Given the description of an element on the screen output the (x, y) to click on. 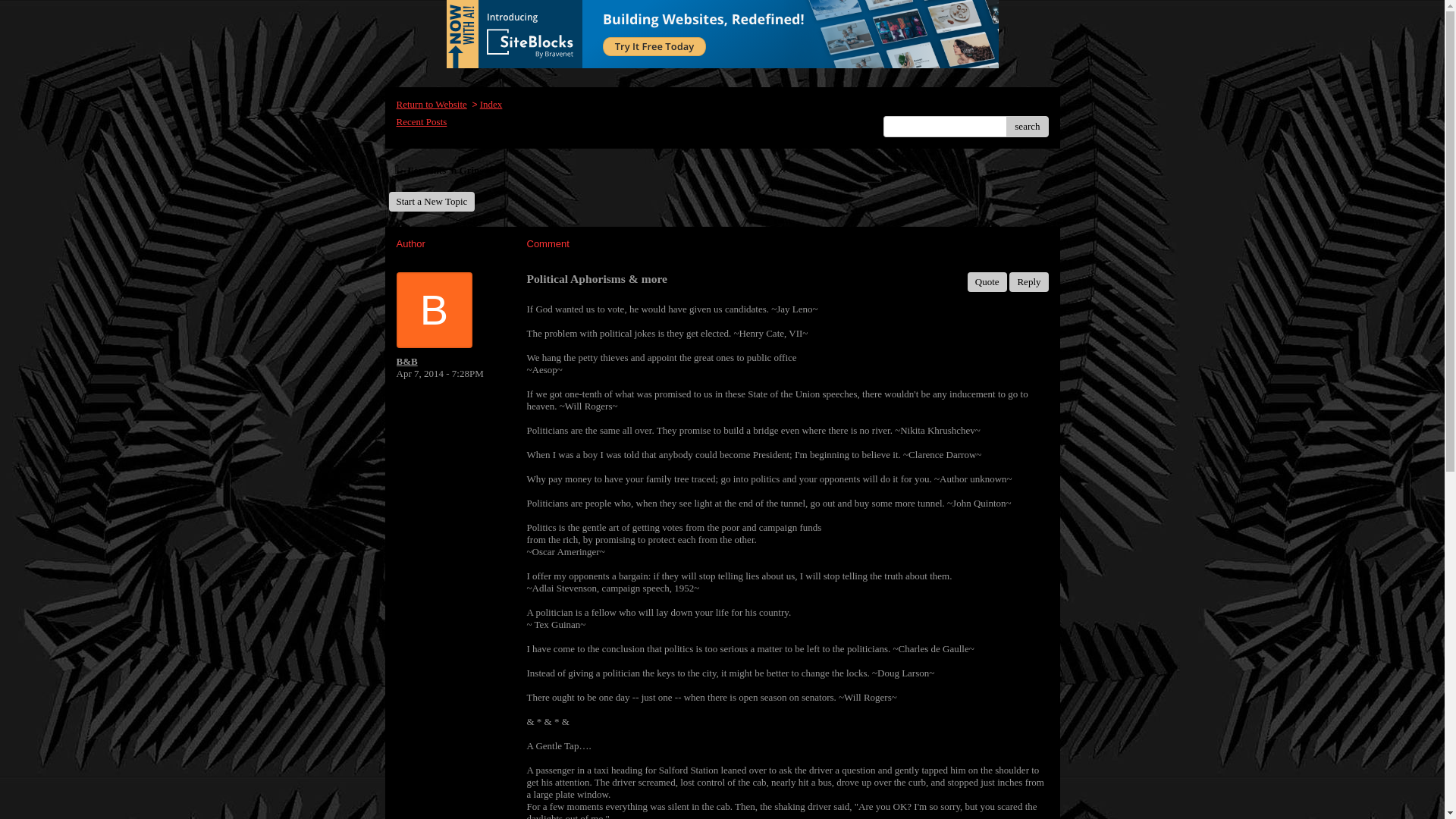
Reply (1028, 281)
Index (491, 103)
search (1027, 126)
Return to Website (430, 103)
Start a New Topic (431, 201)
Recent Posts (421, 121)
Messages from this User (406, 360)
New SiteBlocks Website Builder now with BraveAI (721, 33)
Quote (987, 281)
